Given the description of an element on the screen output the (x, y) to click on. 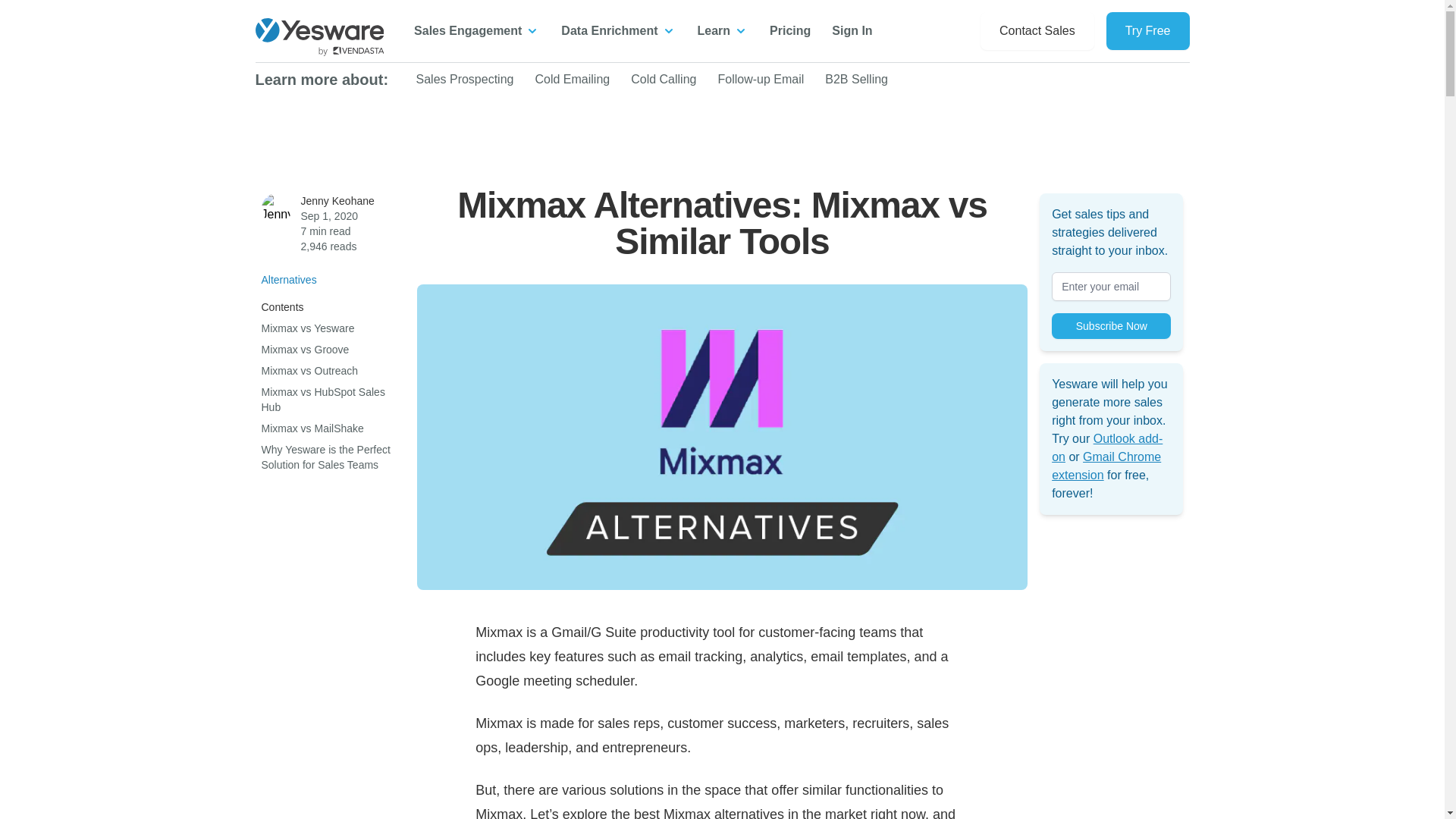
Mixmax vs HubSpot Sales Hub (322, 399)
Gmail Chrome extension (1105, 465)
Mixmax vs Yesware (306, 328)
Sales Engagement (476, 31)
Follow-up Email (760, 79)
Cold Calling (662, 79)
B2B Selling (856, 79)
Mixmax vs Outreach (309, 370)
Sales Prospecting (463, 79)
Data Enrichment (617, 31)
Sign In (851, 31)
Why Yesware is the Perfect Solution for Sales Teams (325, 456)
Outlook add-on (1106, 447)
Contact Sales (1036, 30)
Try Free (1147, 30)
